Given the description of an element on the screen output the (x, y) to click on. 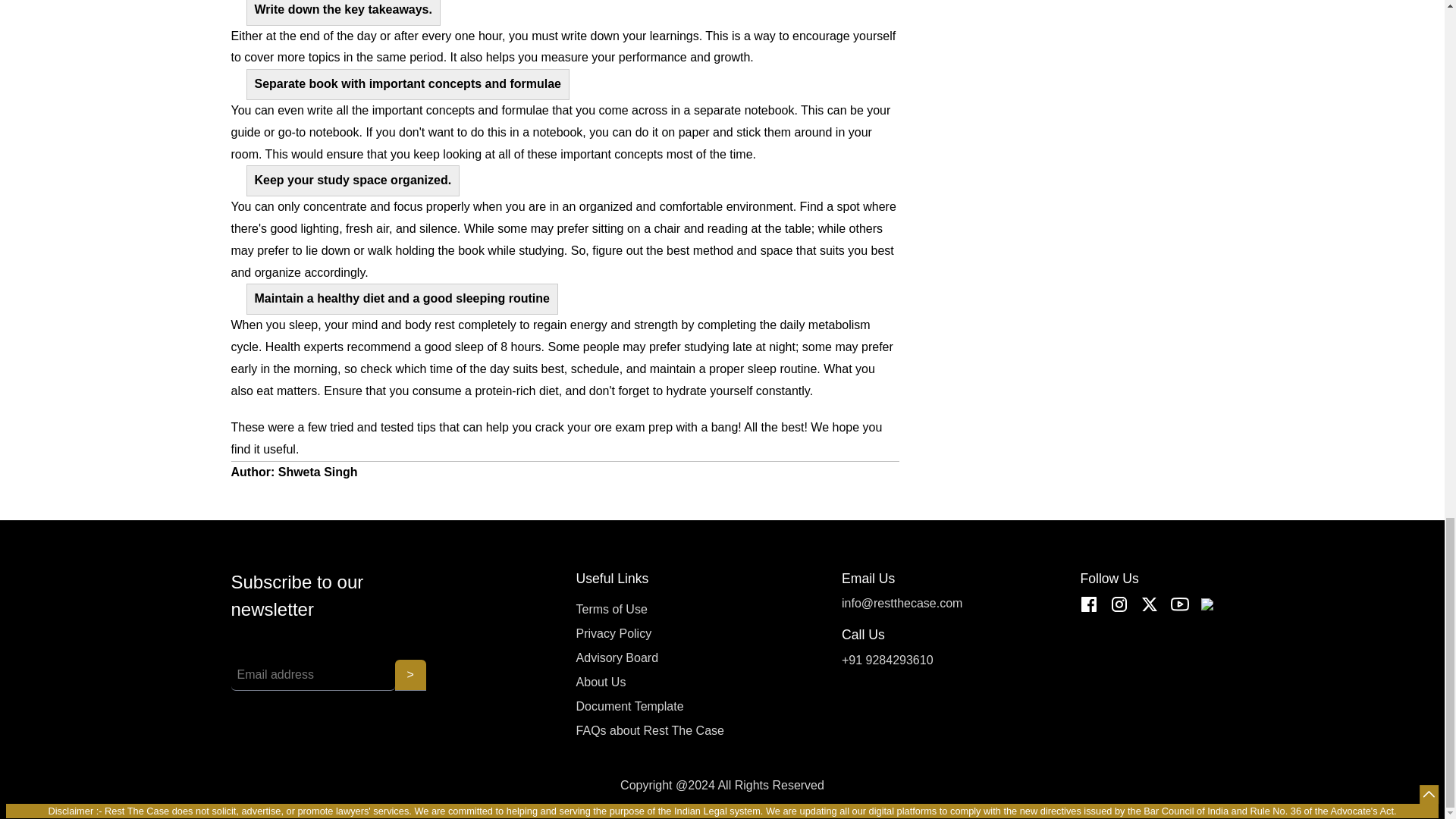
Advisory Board (649, 658)
Privacy Policy (649, 633)
About Us (649, 682)
Terms of Use (649, 609)
